Given the description of an element on the screen output the (x, y) to click on. 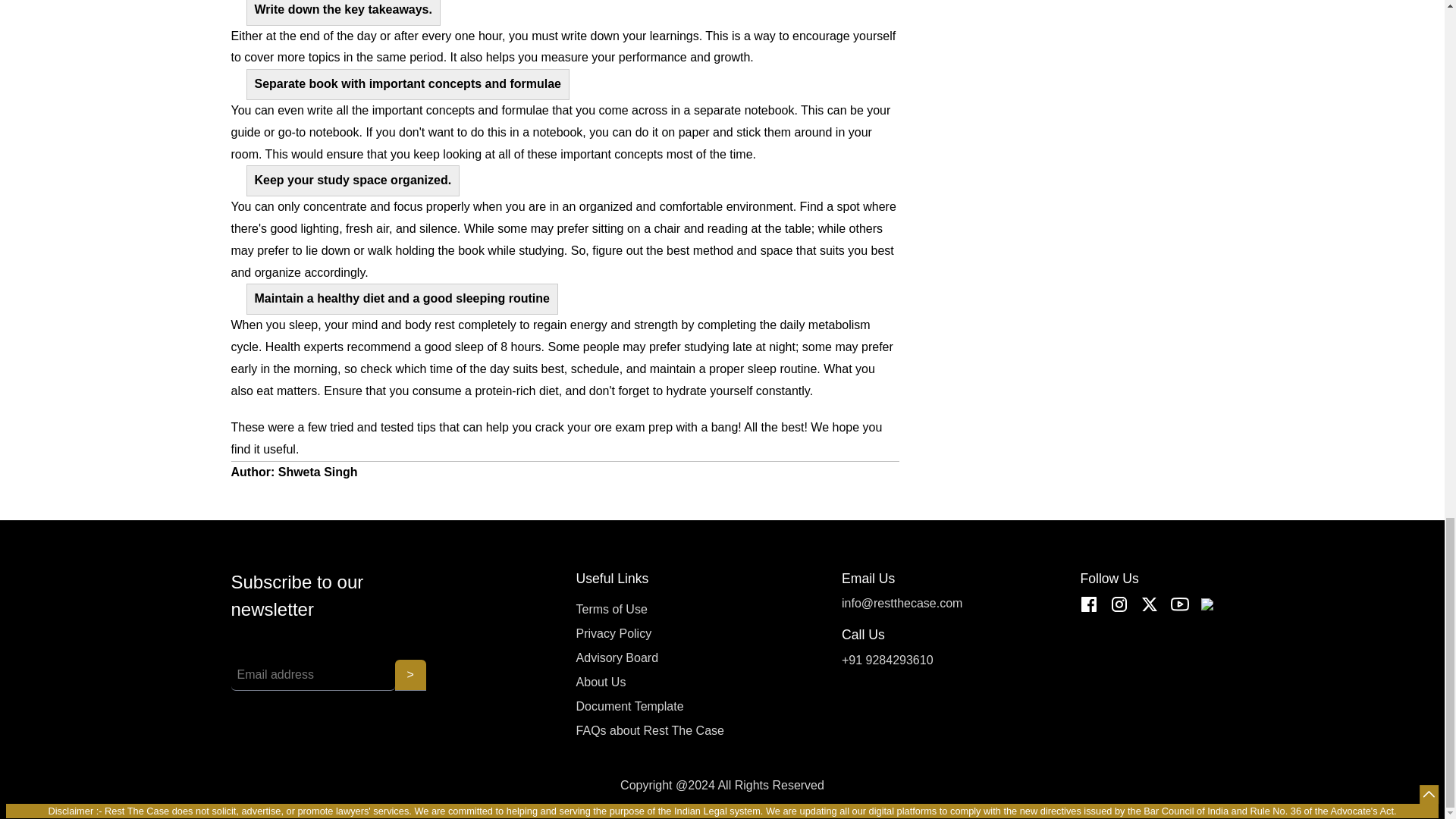
Advisory Board (649, 658)
Privacy Policy (649, 633)
About Us (649, 682)
Terms of Use (649, 609)
